Given the description of an element on the screen output the (x, y) to click on. 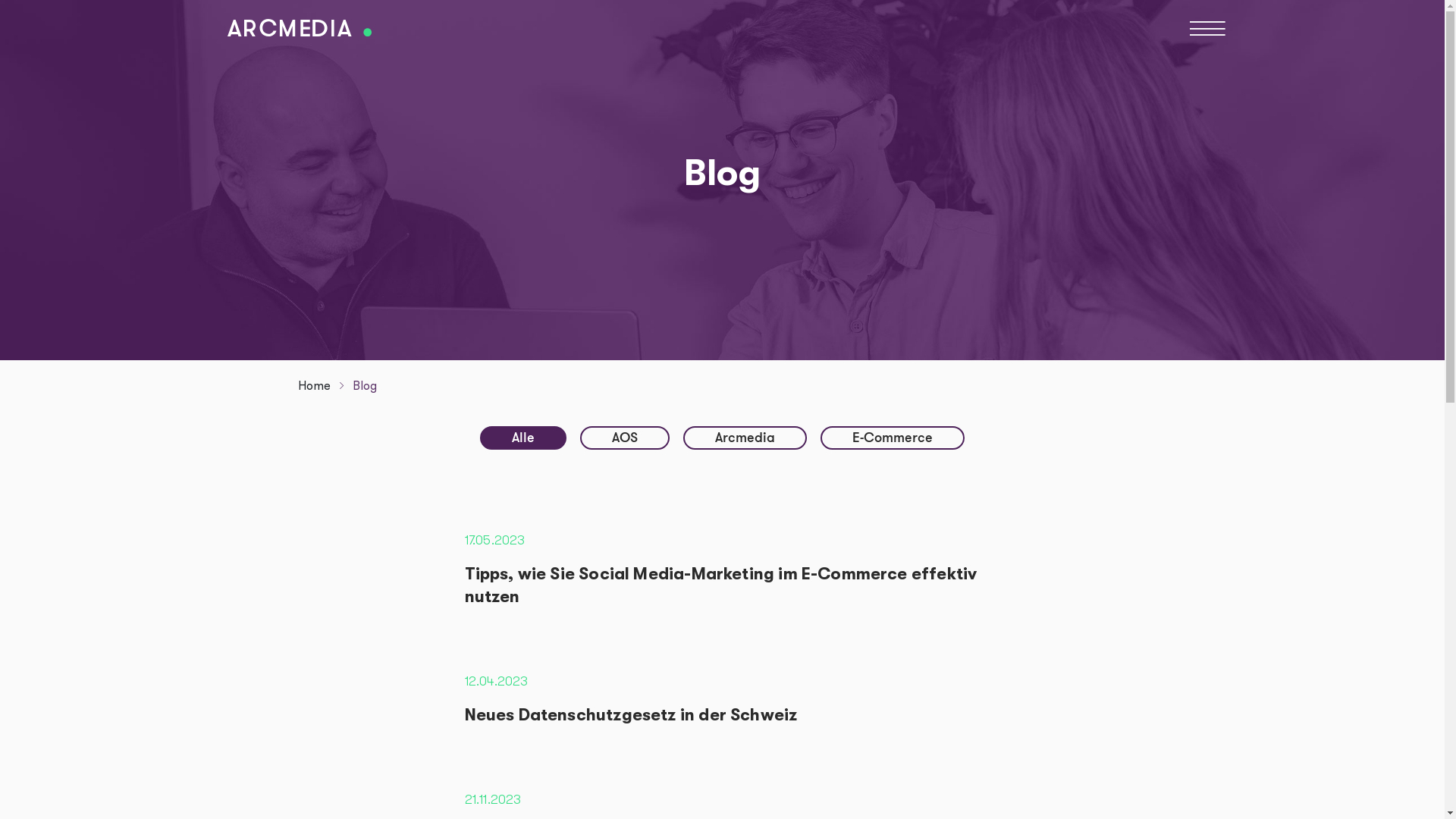
Alle Element type: text (523, 437)
E-Commerce Element type: text (892, 437)
Apply Element type: text (49, 17)
12.04.2023
Neues Datenschutzgesetz in der Schweiz Element type: text (722, 699)
Home Element type: text (313, 384)
Home Element type: hover (299, 27)
AOS Element type: text (624, 437)
Arcmedia Element type: text (744, 437)
